Given the description of an element on the screen output the (x, y) to click on. 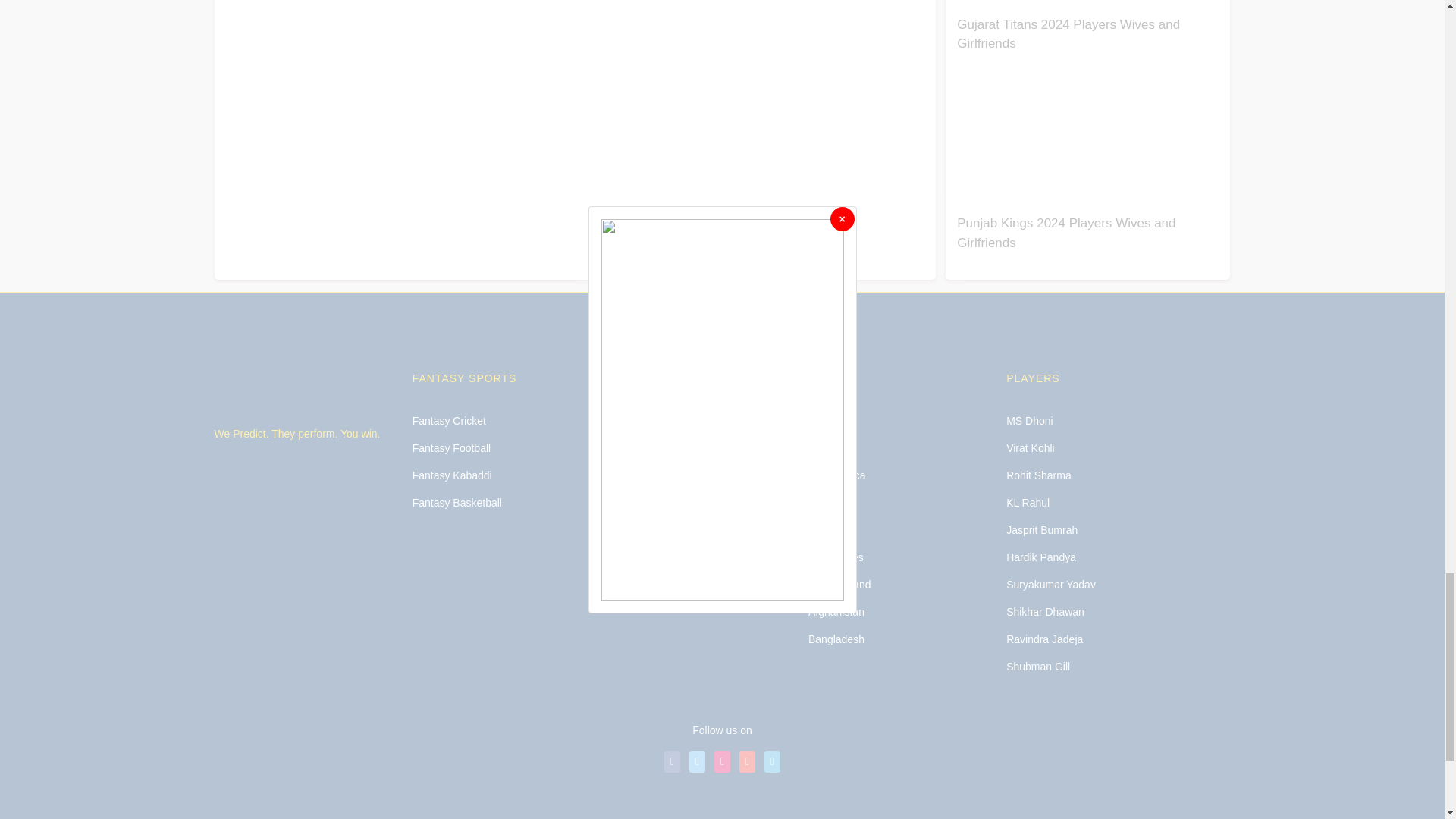
Gujarat Titans 2024 Players Wives and Girlfriends (1067, 34)
Punjab Kings 2024 Players Wives and Girlfriends (1065, 233)
